Given the description of an element on the screen output the (x, y) to click on. 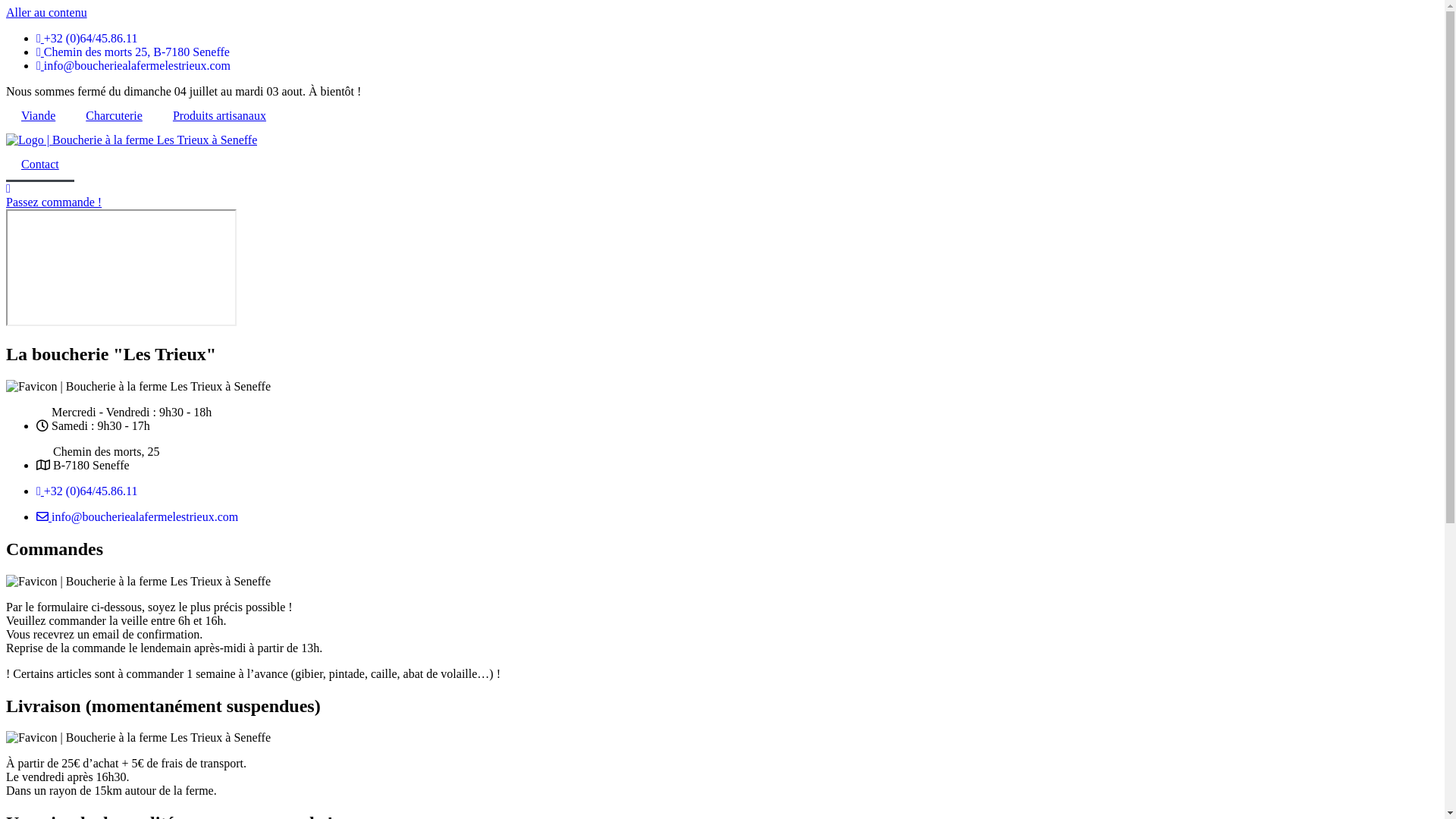
Chemin des morts 25, B-7180 Seneffe Element type: text (132, 51)
info@boucheriealafermelestrieux.com Element type: text (137, 516)
info@boucheriealafermelestrieux.com Element type: text (133, 65)
Viande Element type: text (38, 115)
Aller au contenu Element type: text (46, 12)
Charcuterie Element type: text (113, 115)
+32 (0)64/45.86.11 Element type: text (86, 490)
Produits artisanaux Element type: text (219, 115)
+32 (0)64/45.86.11 Element type: text (86, 37)
Passez commande ! Element type: text (53, 201)
Contact Element type: text (40, 164)
